Given the description of an element on the screen output the (x, y) to click on. 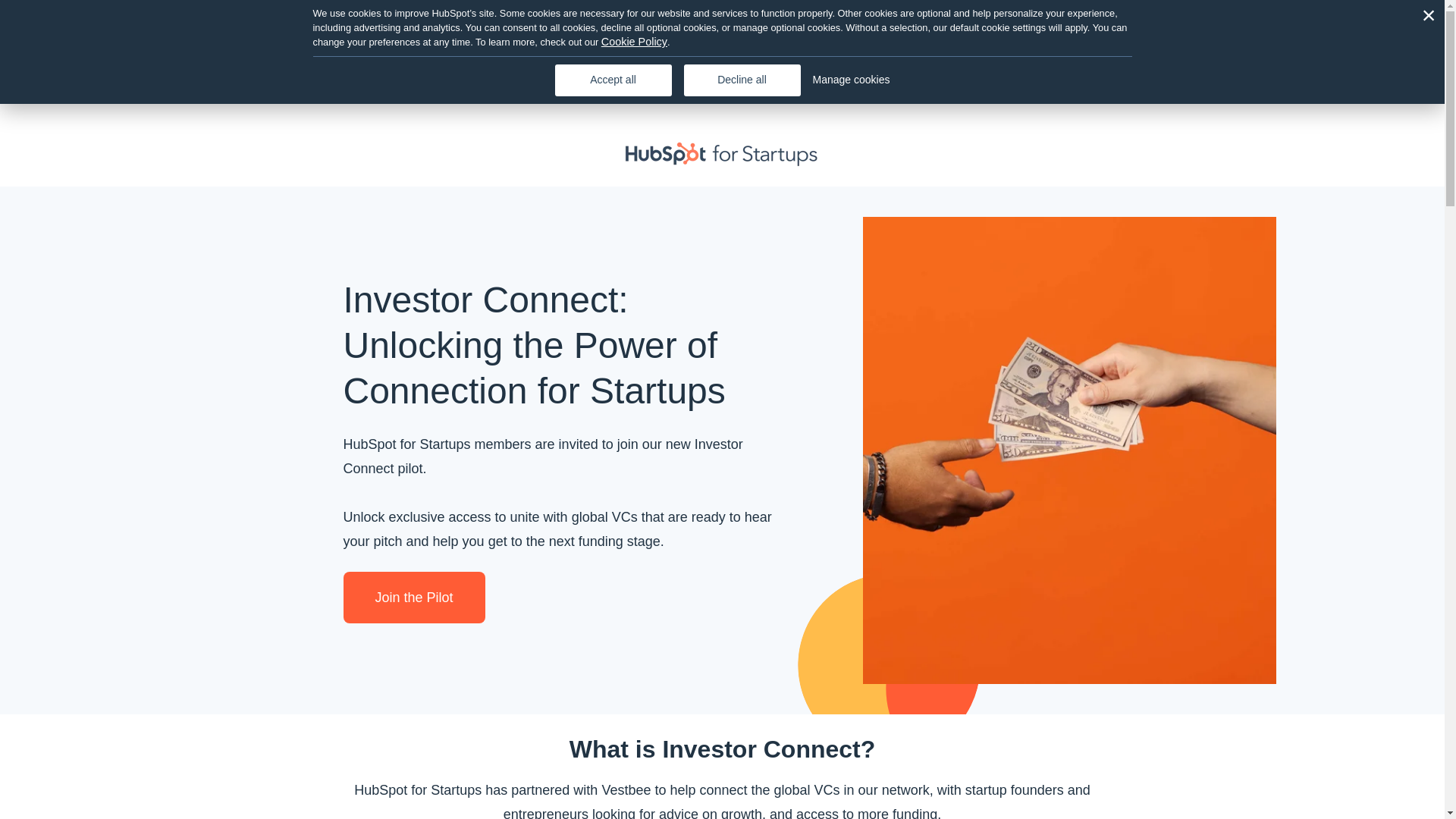
Join the Pilot (413, 597)
